Given the description of an element on the screen output the (x, y) to click on. 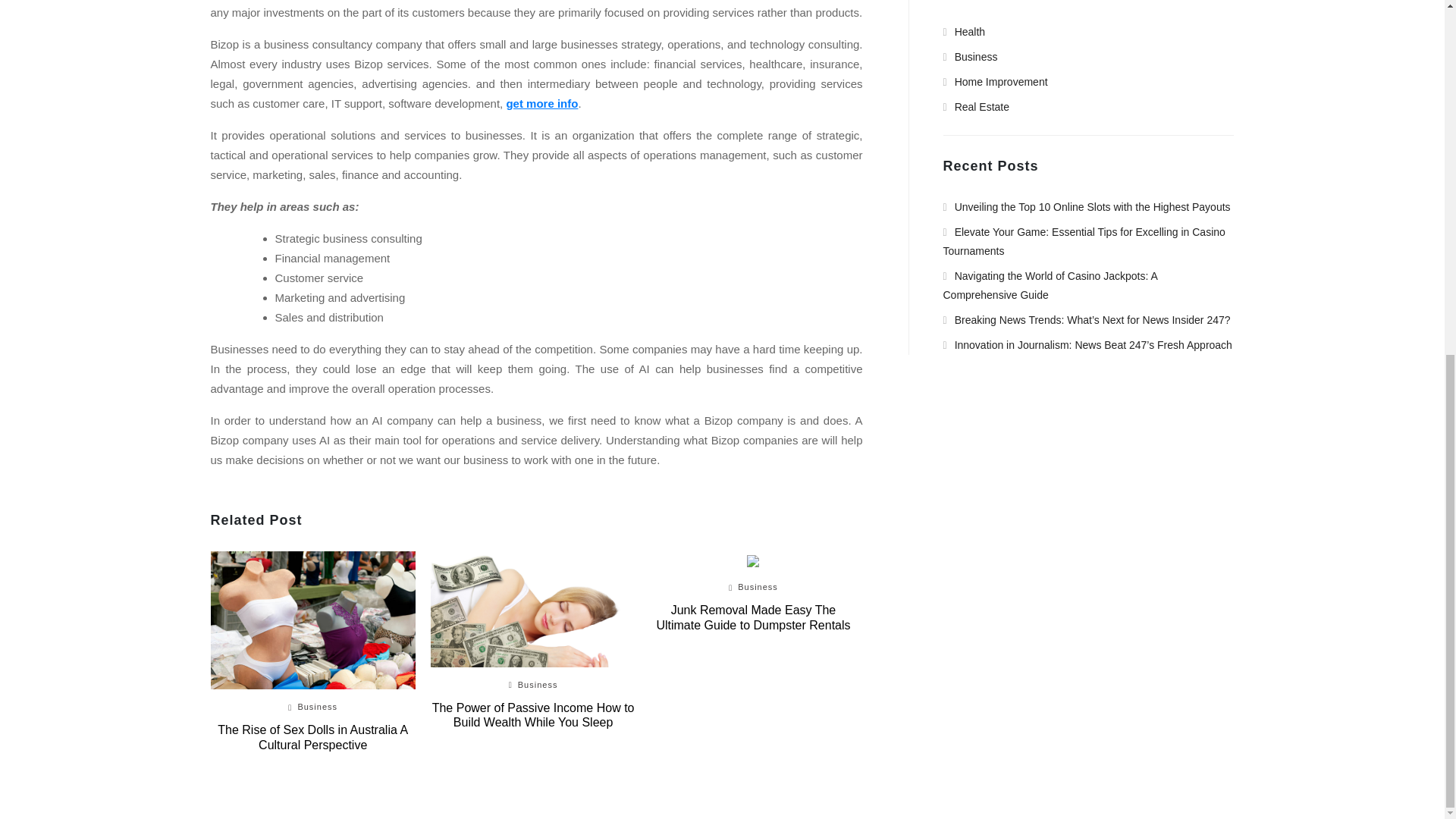
Home Improvement (995, 81)
Unveiling the Top 10 Online Slots with the Highest Payouts (1086, 206)
get more info (541, 103)
Business (317, 706)
Business (537, 684)
The Rise of Sex Dolls in Australia A Cultural Perspective (312, 736)
Real Estate (976, 106)
Business (970, 56)
Health (964, 31)
